Given the description of an element on the screen output the (x, y) to click on. 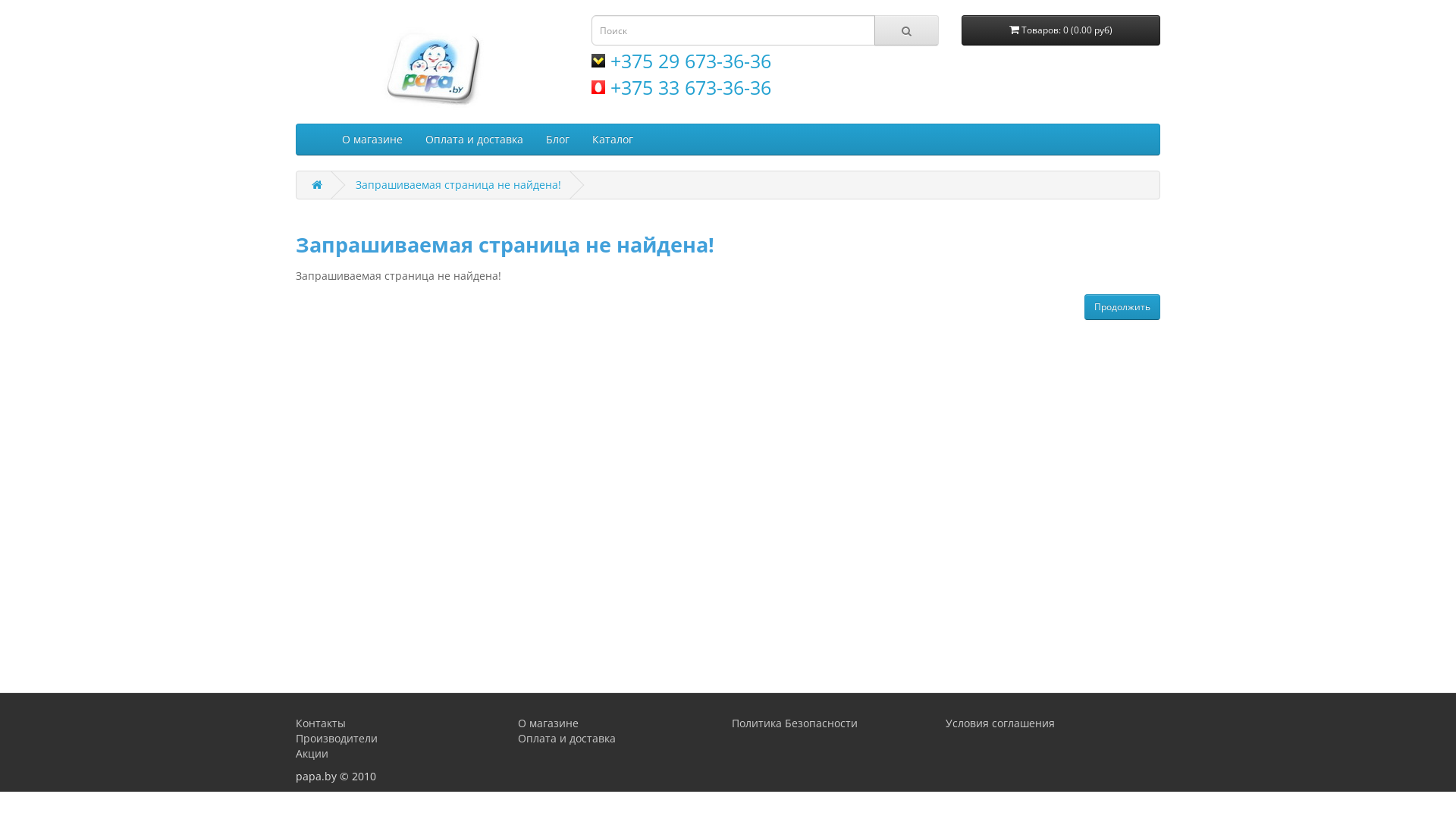
papa.by Element type: hover (432, 65)
+375 29 673-36-36 Element type: text (681, 60)
+375 33 673-36-36 Element type: text (681, 87)
papa.by Element type: hover (431, 65)
